Given the description of an element on the screen output the (x, y) to click on. 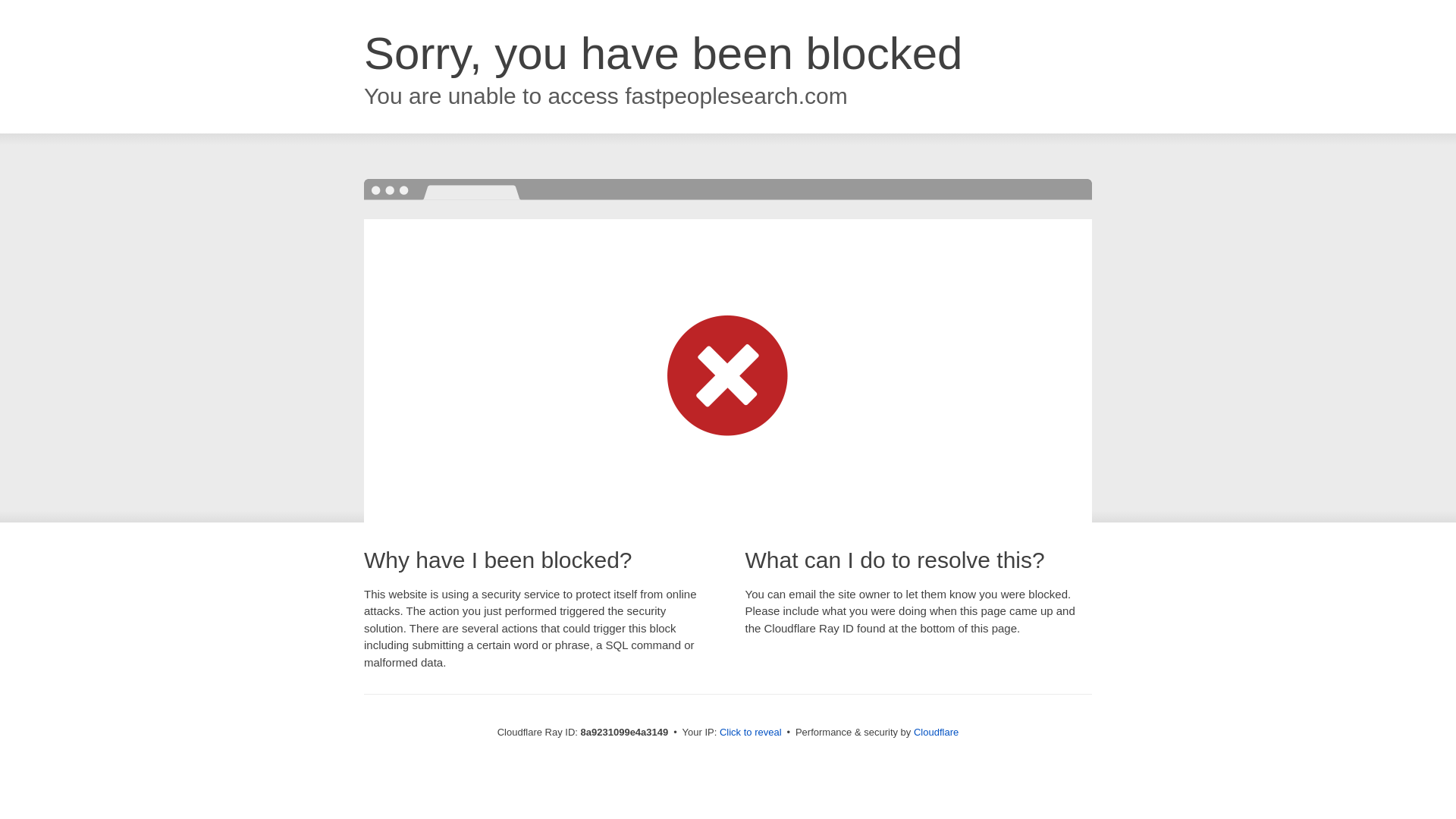
Cloudflare (936, 731)
Click to reveal (750, 732)
